Given the description of an element on the screen output the (x, y) to click on. 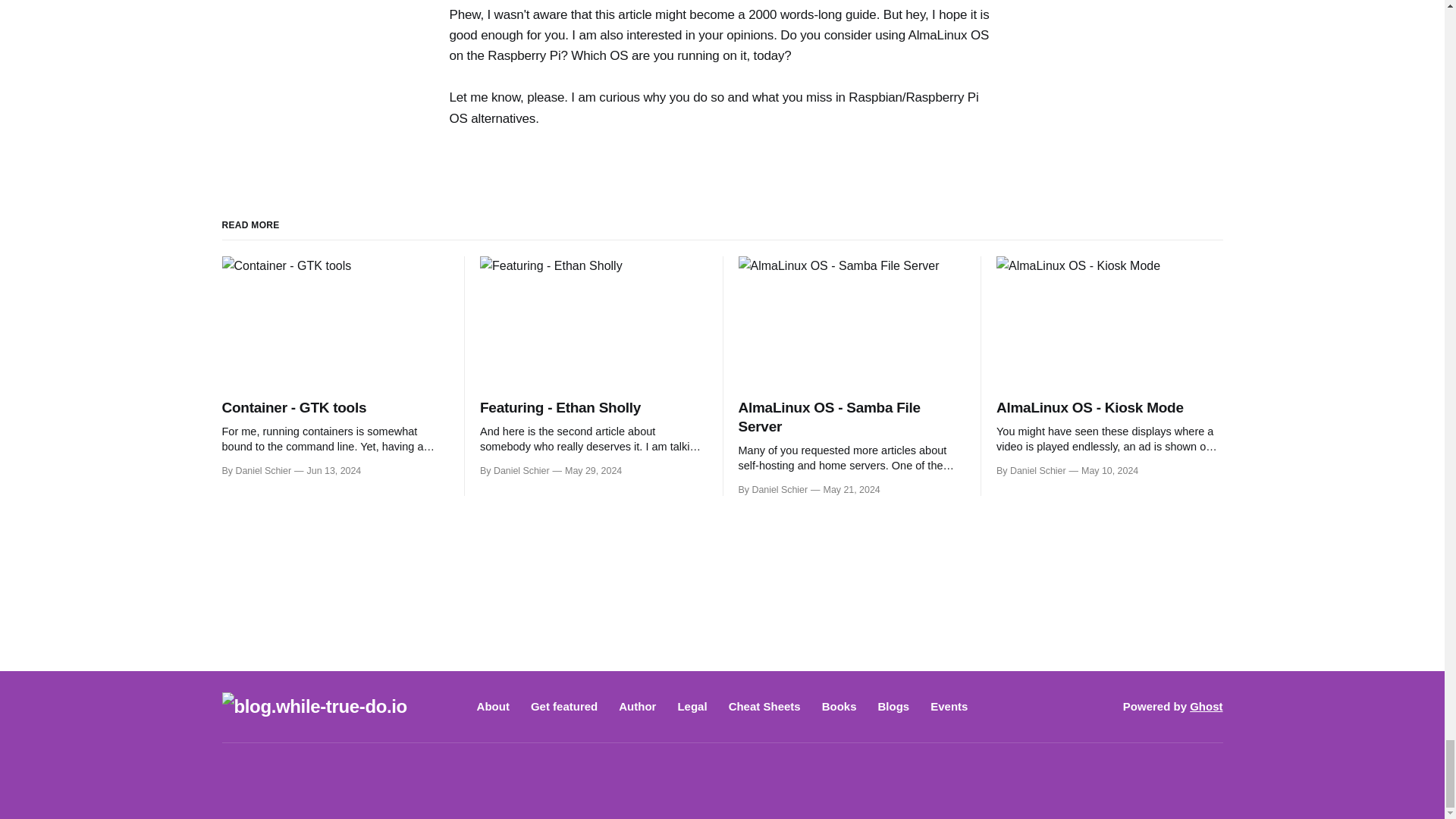
Author (637, 706)
Get featured (563, 706)
About (493, 706)
